Given the description of an element on the screen output the (x, y) to click on. 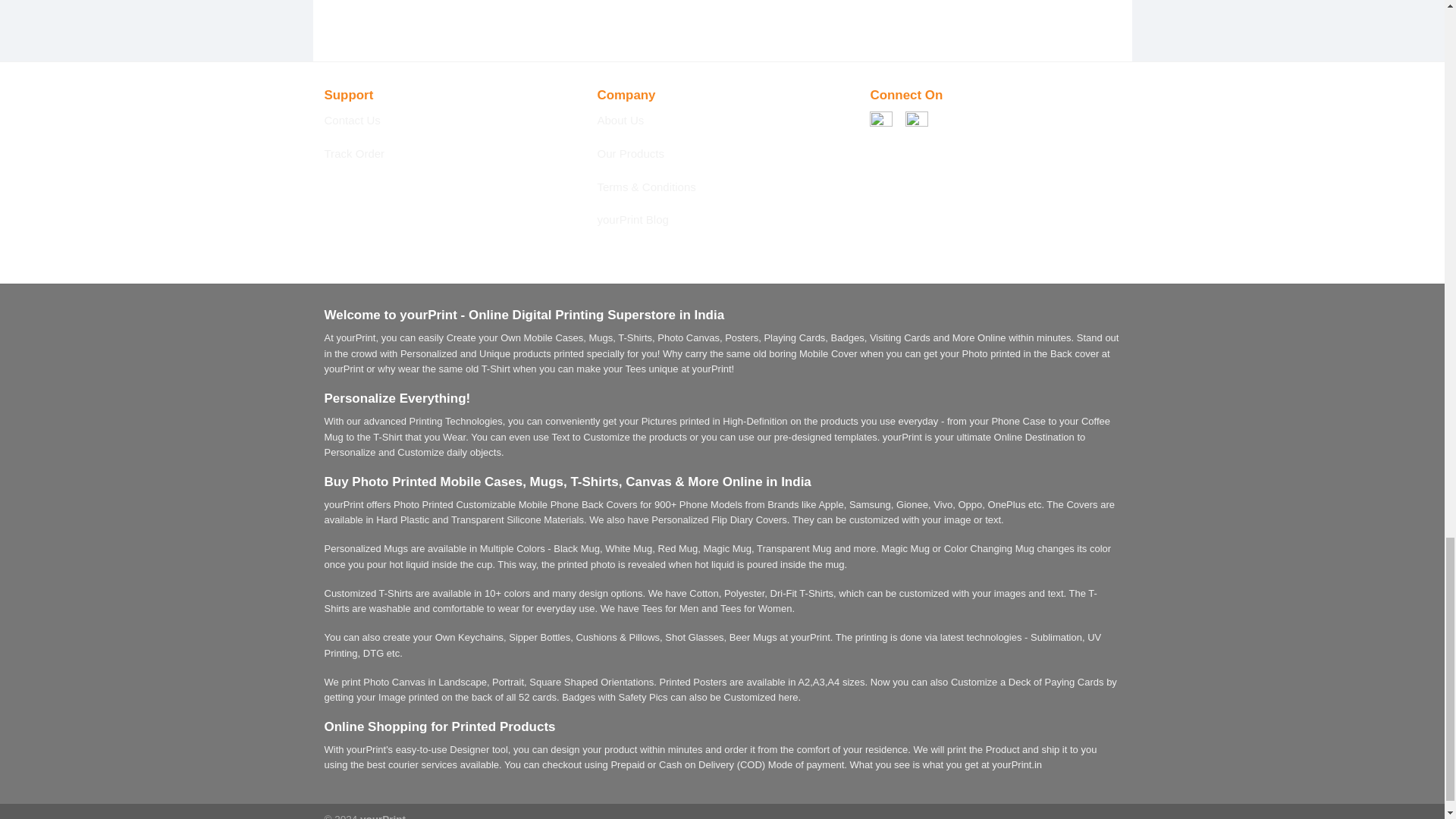
Vivo (942, 504)
About Us (619, 119)
yourPrint Blog (632, 219)
Gionee (912, 504)
OnePlus (1007, 504)
Customized T-Shirts (368, 593)
Track Order (354, 153)
Printed Customizable Mobile Phone Back Covers (529, 504)
Tees for Men (670, 608)
Personalized Mugs (366, 548)
Oppo (970, 504)
Keychains (480, 636)
Samsung (869, 504)
Our Products (629, 153)
Sipper Bottles (539, 636)
